Given the description of an element on the screen output the (x, y) to click on. 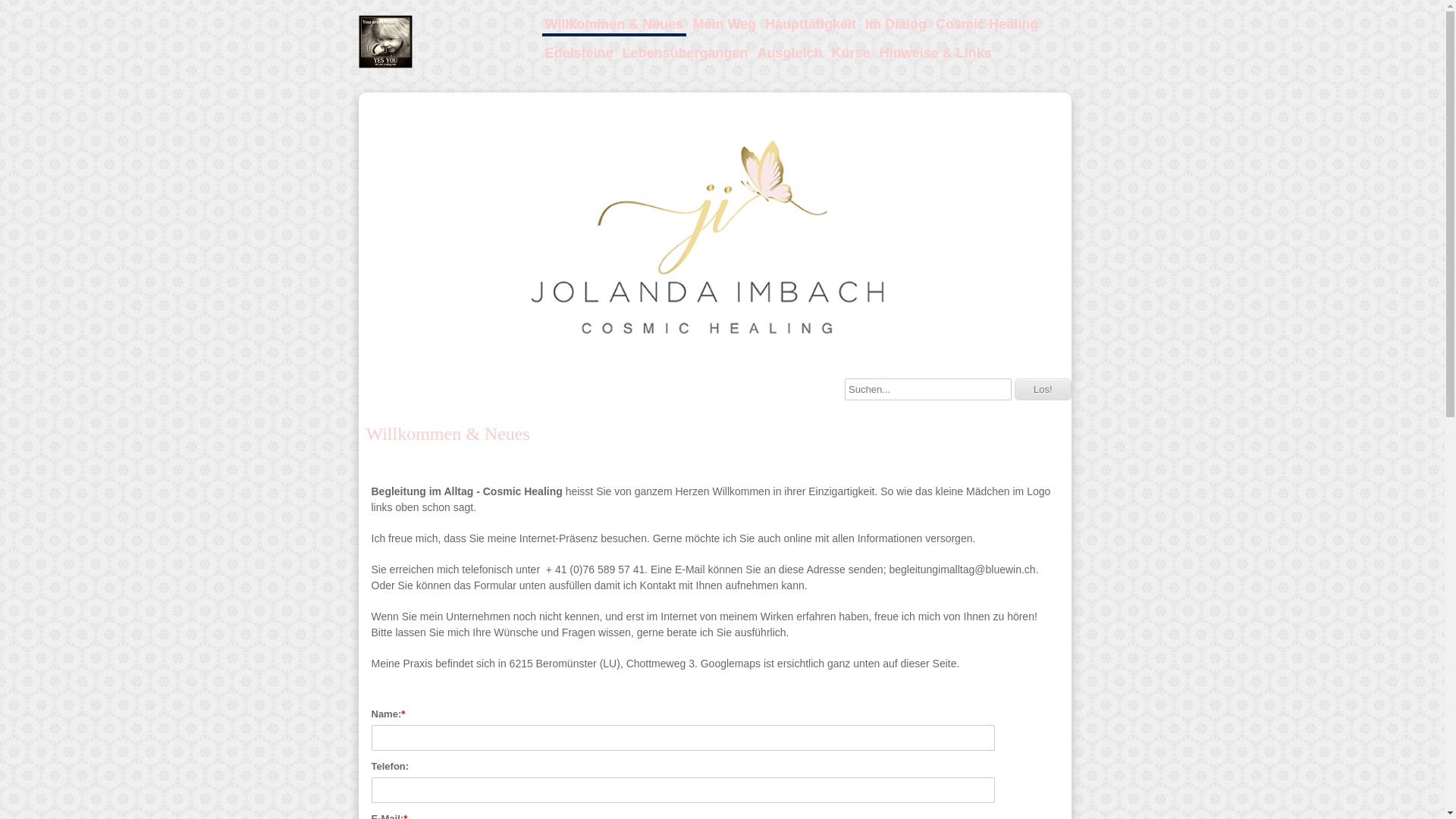
Los! Element type: text (1042, 389)
Willkommen & Neues Element type: text (613, 25)
Mein Weg Element type: text (724, 24)
Im Dialog Element type: text (895, 24)
Kurse Element type: text (850, 52)
Hinweise & Links Element type: text (935, 52)
Edelsteine Element type: text (578, 52)
Ausgleich Element type: text (789, 52)
Cosmic Healing Element type: text (986, 24)
